Given the description of an element on the screen output the (x, y) to click on. 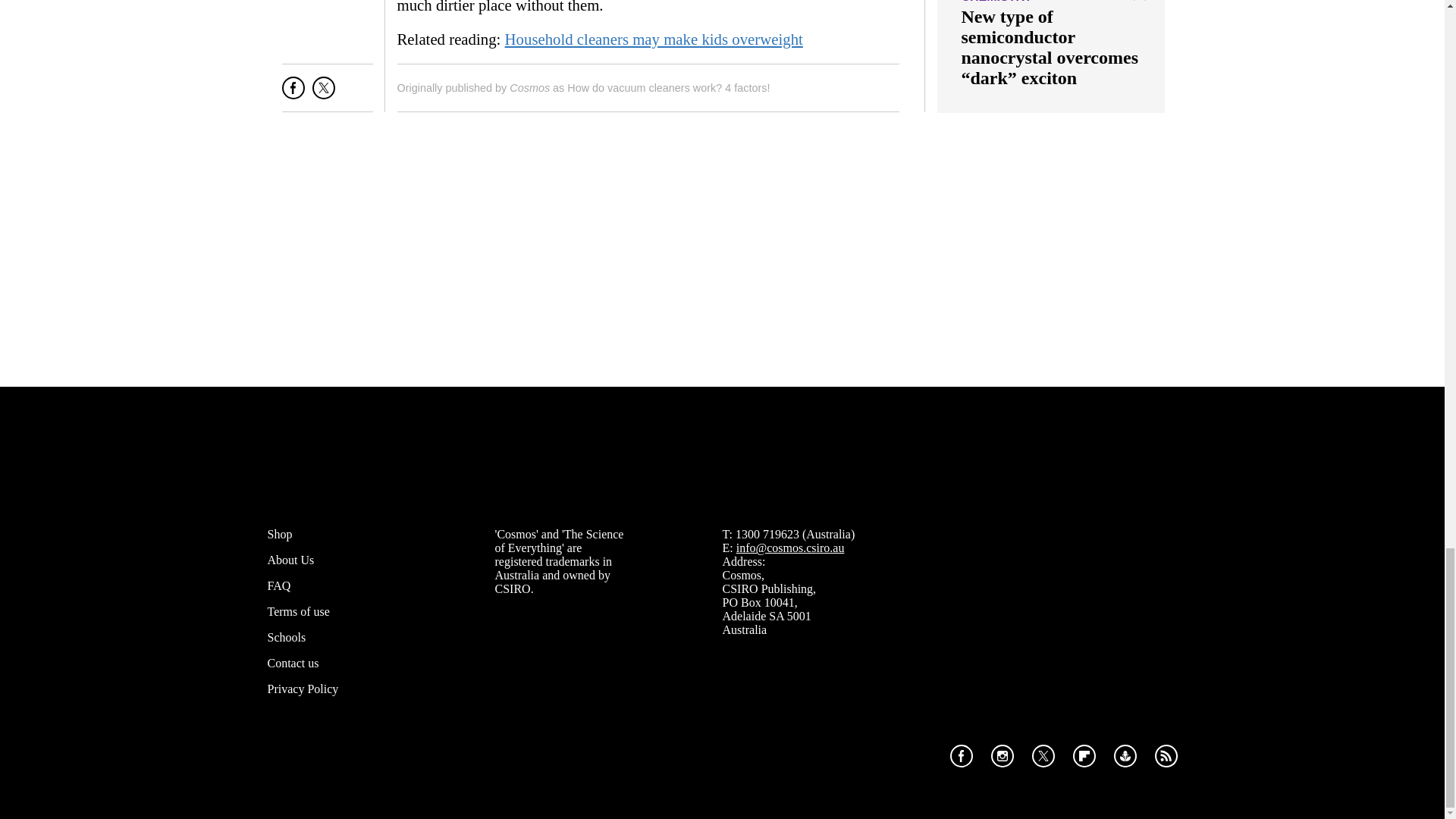
Tweet (323, 93)
How do vacuum cleaners work? 4 factors! (668, 87)
Share on Facebook (293, 93)
